Given the description of an element on the screen output the (x, y) to click on. 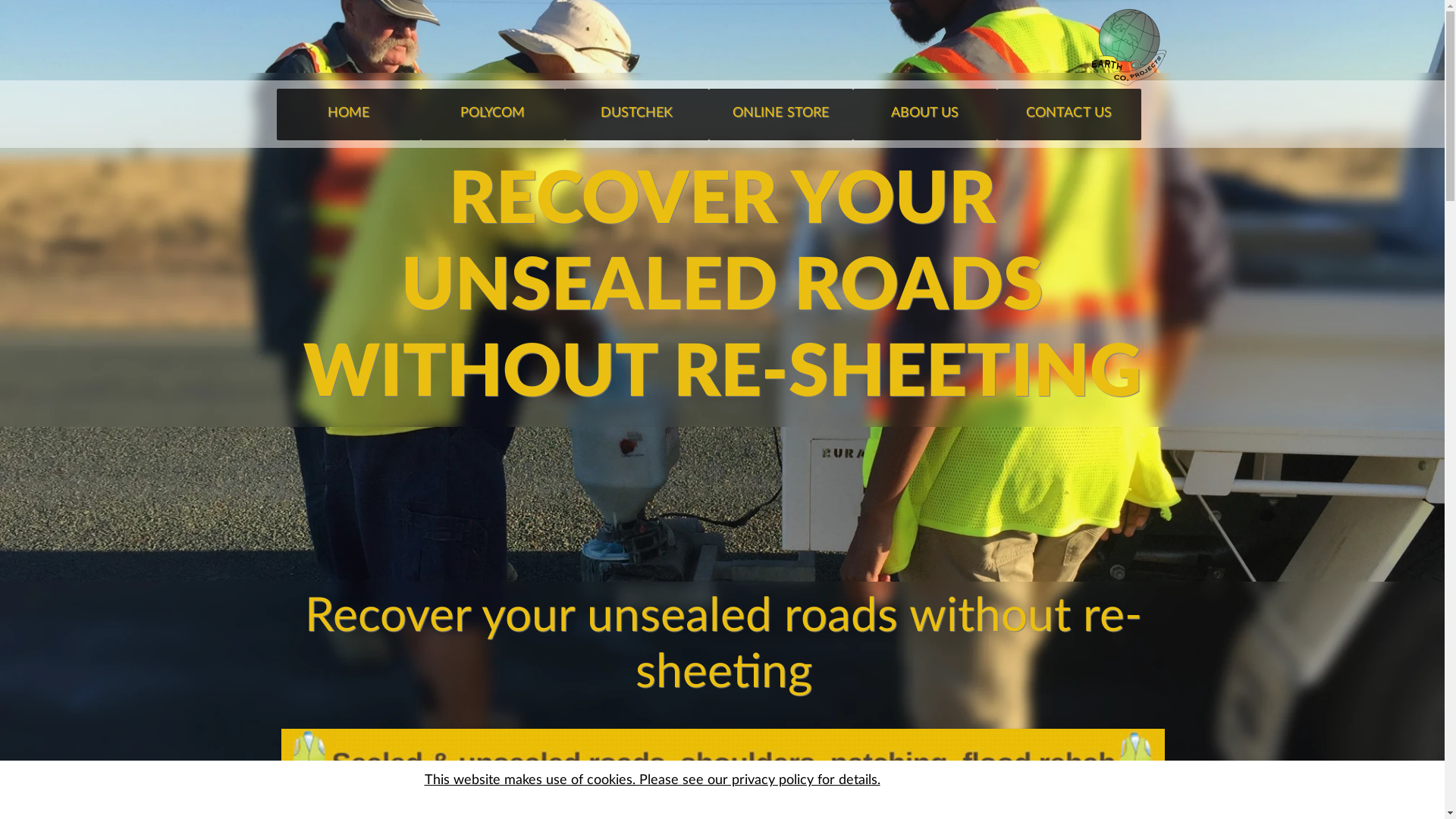
Rural road asset management with PolyCoom Stabilising Aid. Element type: hover (722, 764)
